Given the description of an element on the screen output the (x, y) to click on. 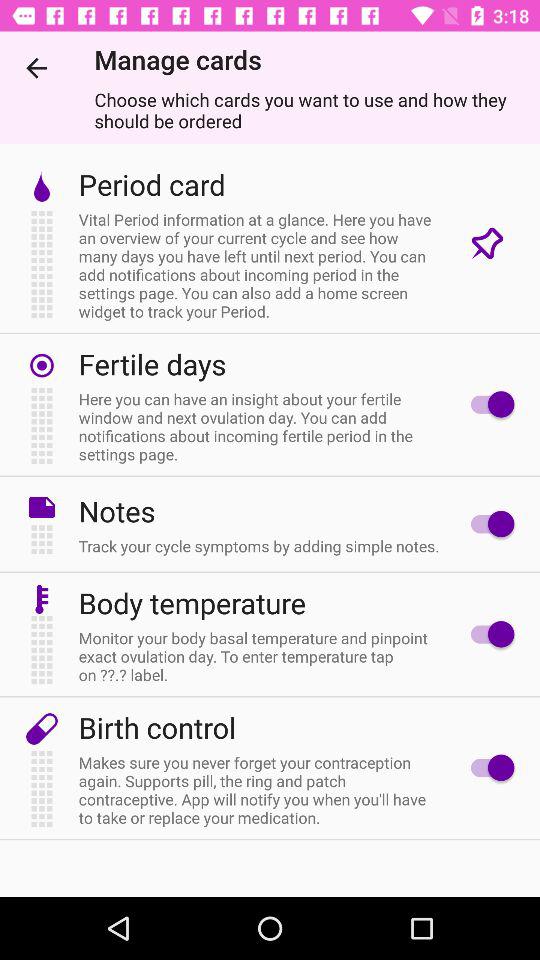
open the item to the left of the manage cards item (36, 68)
